Given the description of an element on the screen output the (x, y) to click on. 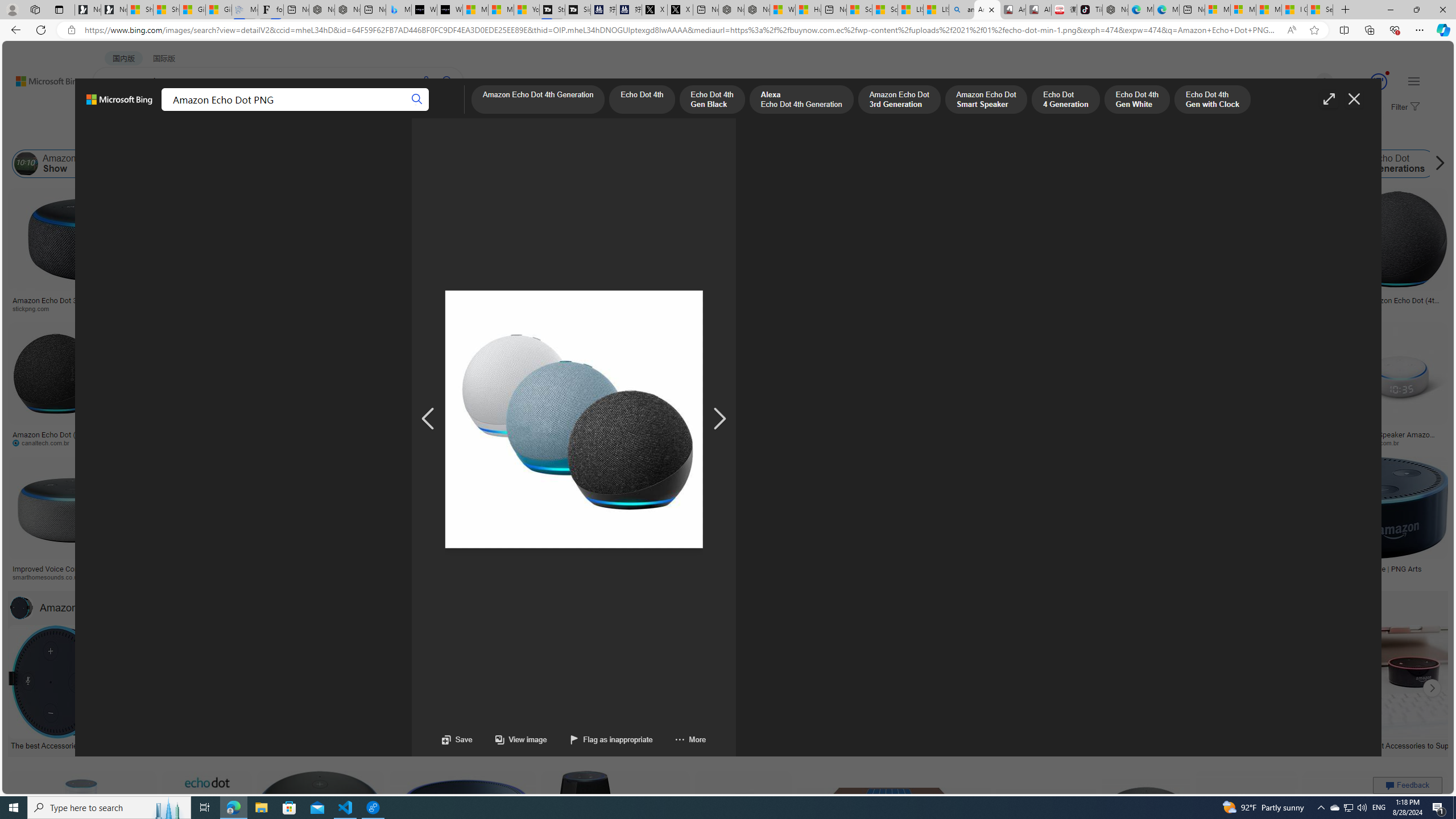
mediamarkt.de (499, 576)
Amazon Echo Dot with Clock (447, 163)
skroutz.gr (932, 576)
Amazon Echo Dot Logo (905, 163)
Amazon Echo Dot With Clock Review | Security.org (249, 568)
Image size (126, 135)
Dropdown Menu (443, 111)
License (377, 135)
